Given the description of an element on the screen output the (x, y) to click on. 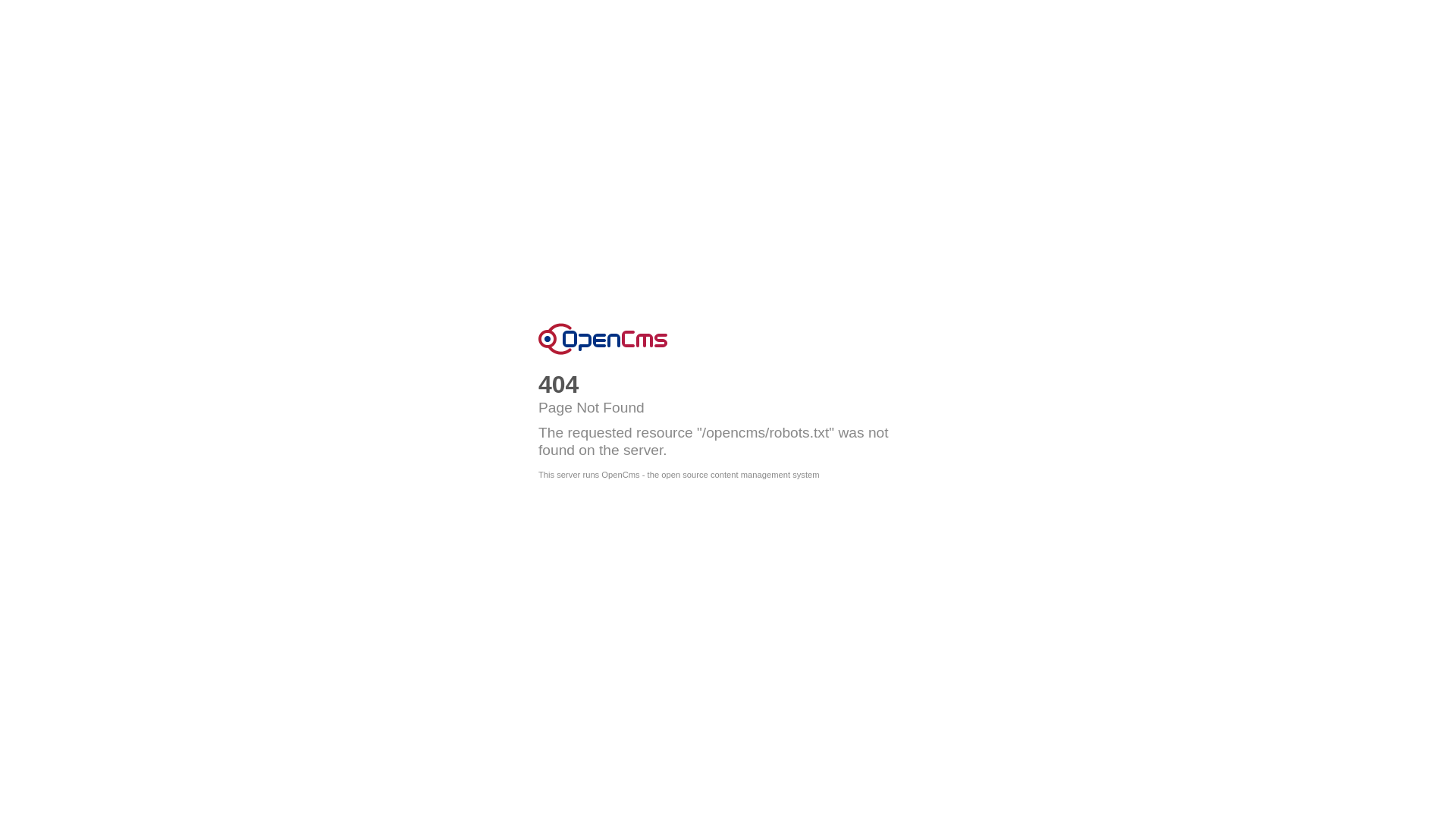
OpenCms Element type: text (602, 338)
